Given the description of an element on the screen output the (x, y) to click on. 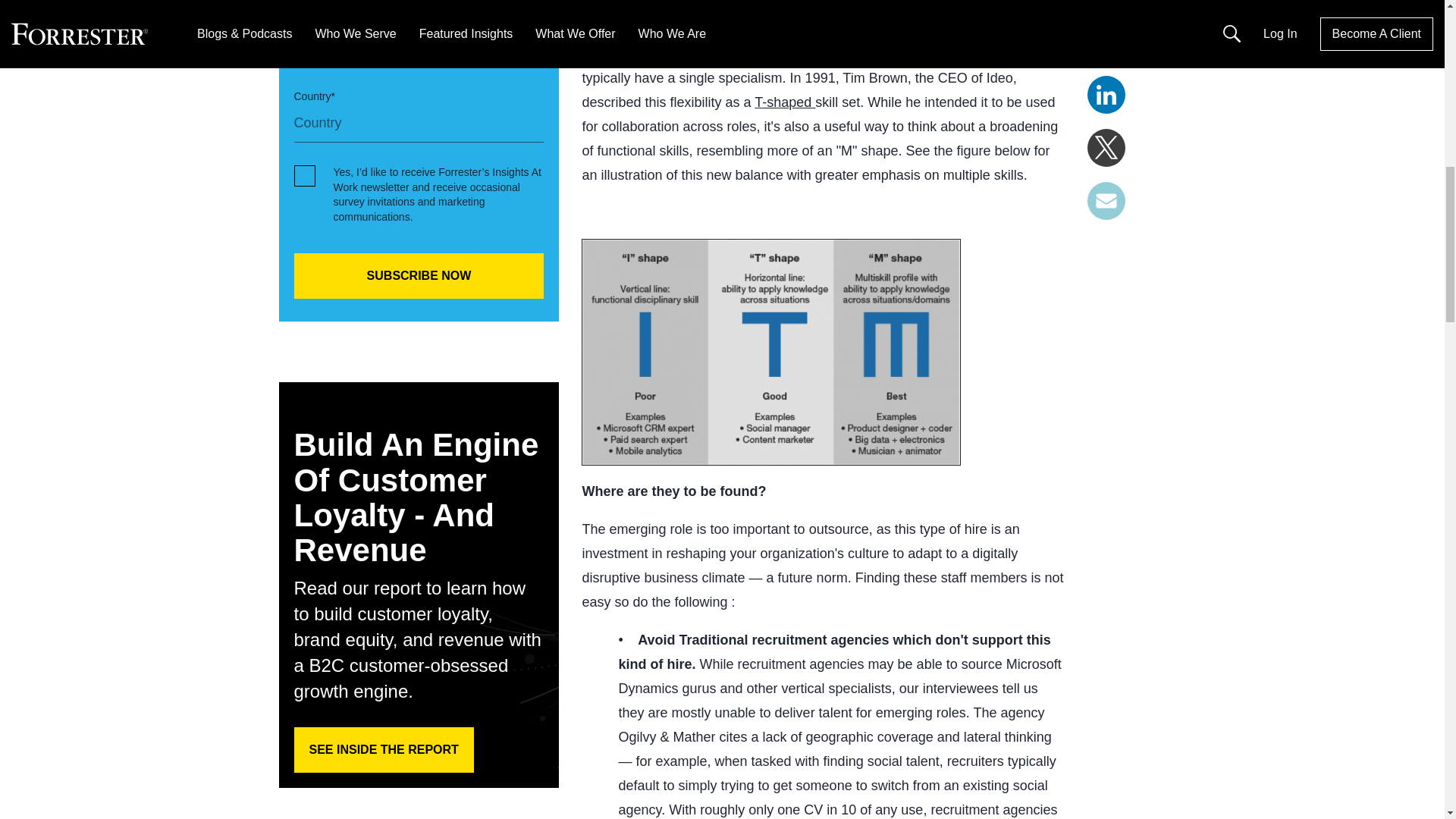
Subscribe Now (419, 275)
